Given the description of an element on the screen output the (x, y) to click on. 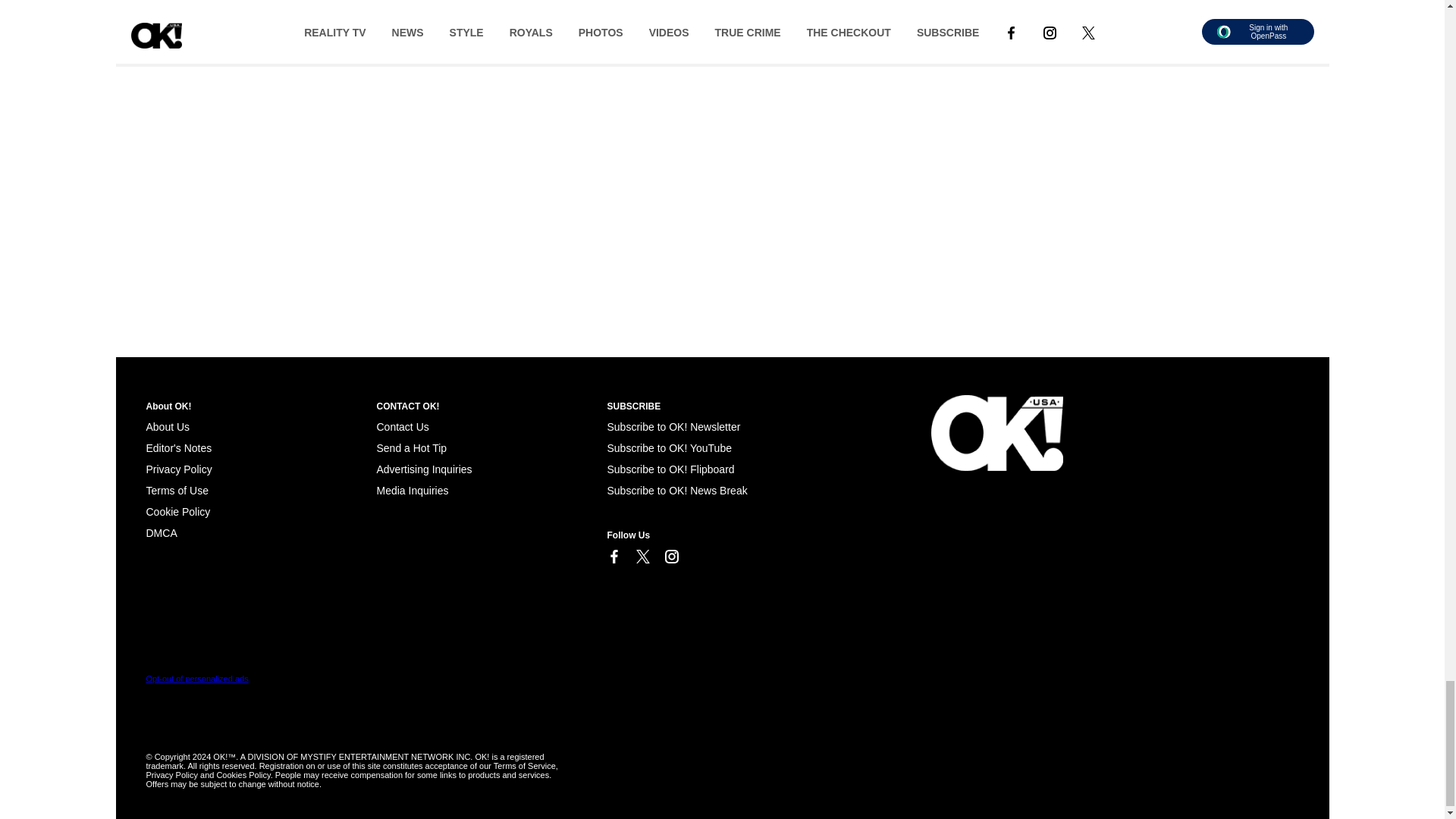
Cookie Policy (177, 511)
Editor's Notes (178, 448)
Privacy Policy (178, 469)
Terms of Use (176, 490)
Link to Facebook (613, 556)
About Us (167, 426)
Link to X (641, 556)
Cookie Policy (160, 532)
Link to Instagram (670, 556)
